Given the description of an element on the screen output the (x, y) to click on. 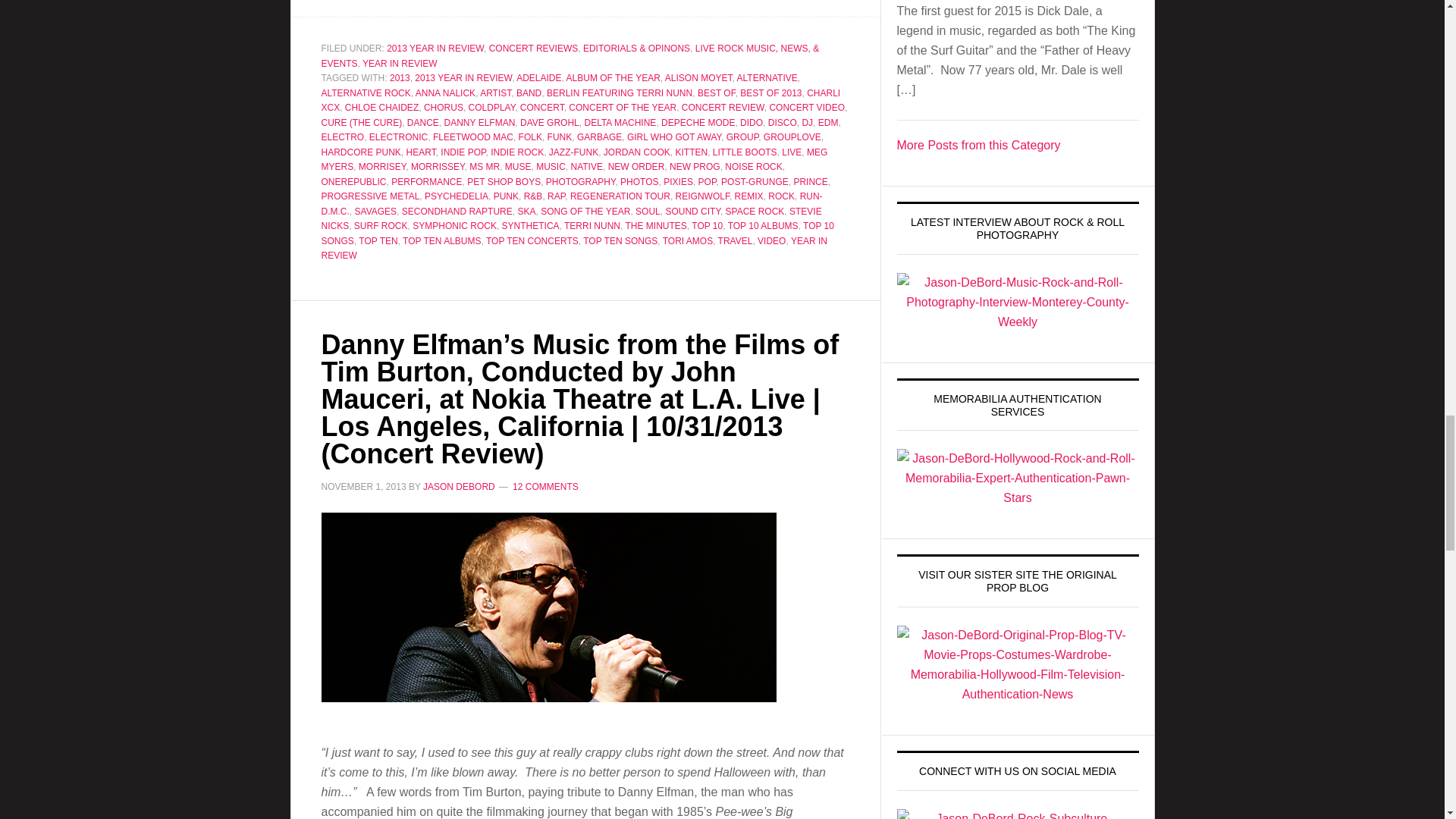
"Rock Talk" Podcast Interviews (977, 144)
